Given the description of an element on the screen output the (x, y) to click on. 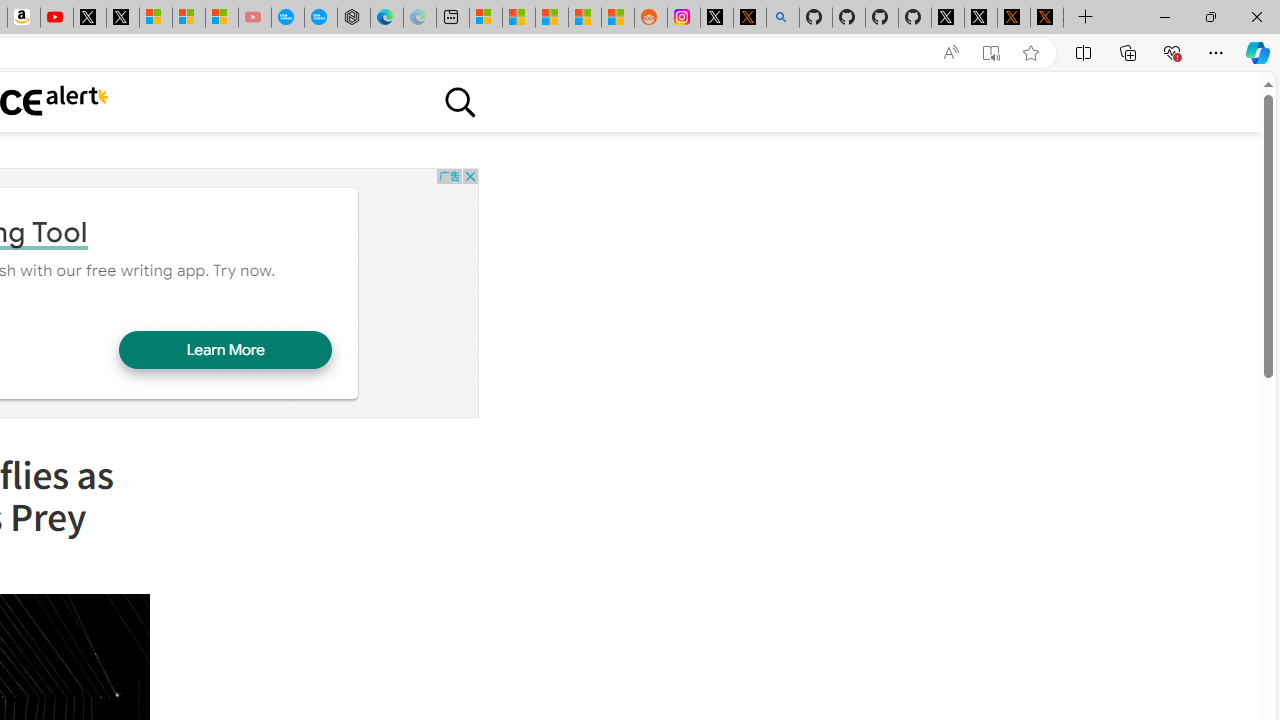
X Privacy Policy (1046, 17)
Shanghai, China hourly forecast | Microsoft Weather (552, 17)
Day 1: Arriving in Yemen (surreal to be here) - YouTube (56, 17)
help.x.com | 524: A timeout occurred (749, 17)
The most popular Google 'how to' searches (320, 17)
Microsoft account | Microsoft Account Privacy Settings (485, 17)
